Given the description of an element on the screen output the (x, y) to click on. 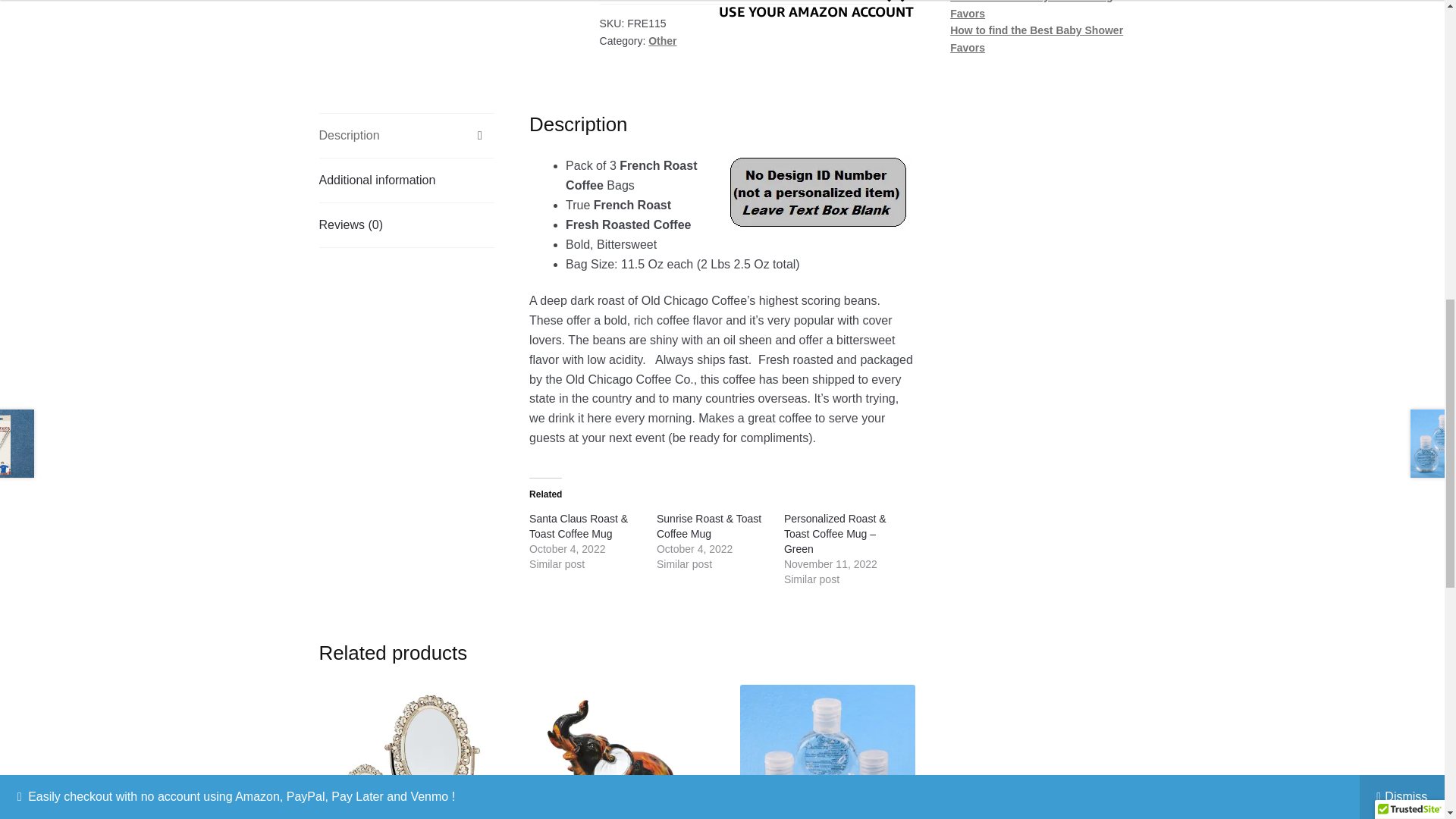
Description (406, 135)
Additional information (406, 180)
Other (662, 40)
